Given the description of an element on the screen output the (x, y) to click on. 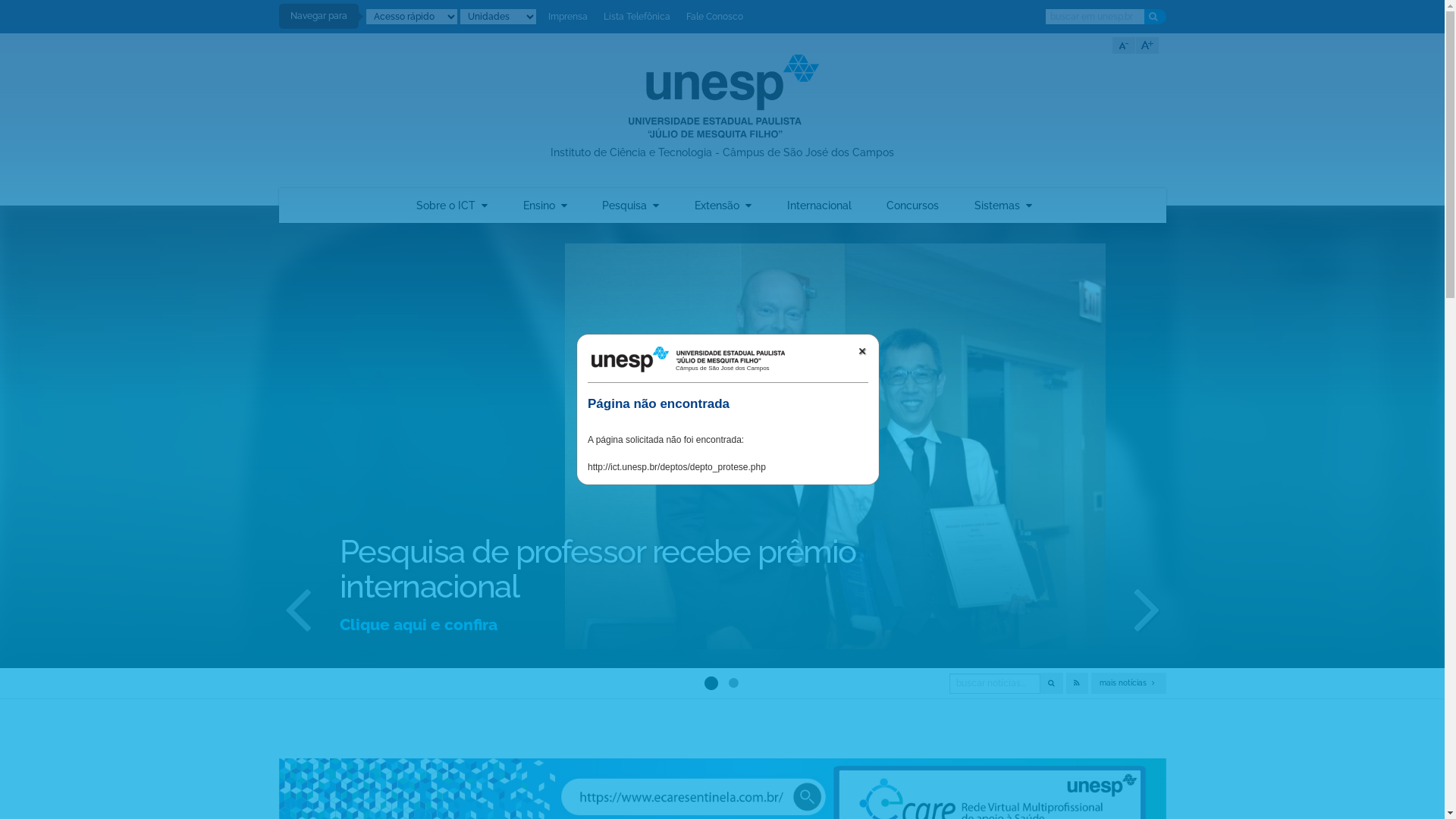
Feed de RSS Element type: hover (1077, 682)
1 Element type: text (708, 680)
Pesquisa Element type: text (630, 205)
Imprensa Element type: text (567, 16)
2 Element type: text (733, 682)
Sistemas Element type: text (1003, 205)
Fechar Element type: hover (862, 351)
Sobre o ICT Element type: text (451, 205)
Concursos Element type: text (912, 205)
Fale Conosco Element type: text (714, 16)
Internacional Element type: text (819, 205)
Ensino Element type: text (545, 205)
Previous Element type: text (297, 607)
diminuir fonte Element type: hover (1122, 45)
Next Element type: text (1146, 607)
aumentar fonte Element type: hover (1147, 45)
